Given the description of an element on the screen output the (x, y) to click on. 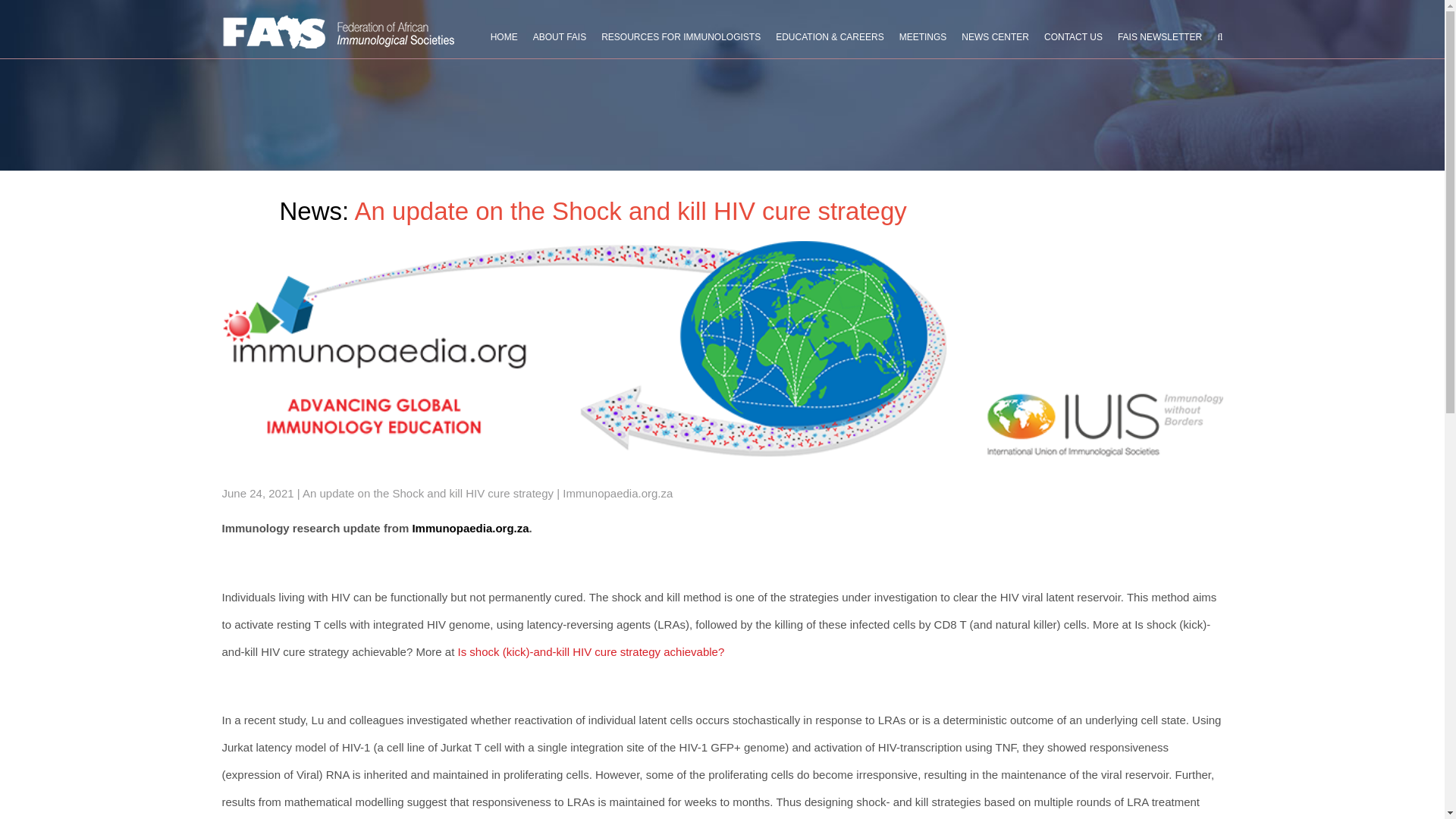
News (310, 211)
Immunopaedia.org.za (470, 527)
Open Cookie Preferences (32, 799)
FAIS NEWSLETTER (1160, 31)
CONTACT US (1072, 31)
RESOURCES FOR IMMUNOLOGISTS (680, 31)
NEWS CENTER (994, 31)
